Given the description of an element on the screen output the (x, y) to click on. 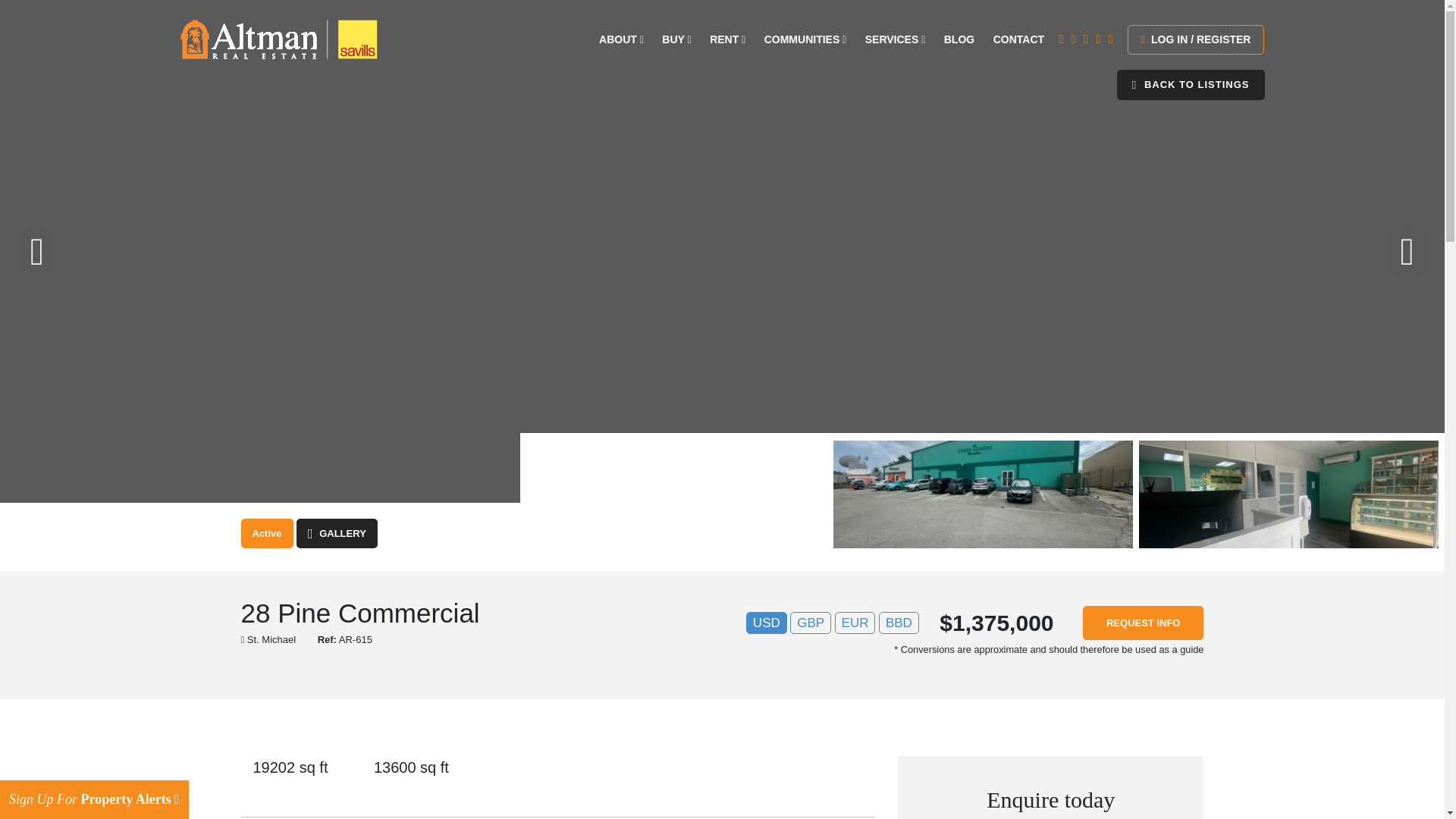
RENT (727, 39)
BUY (676, 39)
BLOG (958, 39)
SERVICES (895, 39)
ABOUT (620, 39)
COMMUNITIES (805, 39)
